Given the description of an element on the screen output the (x, y) to click on. 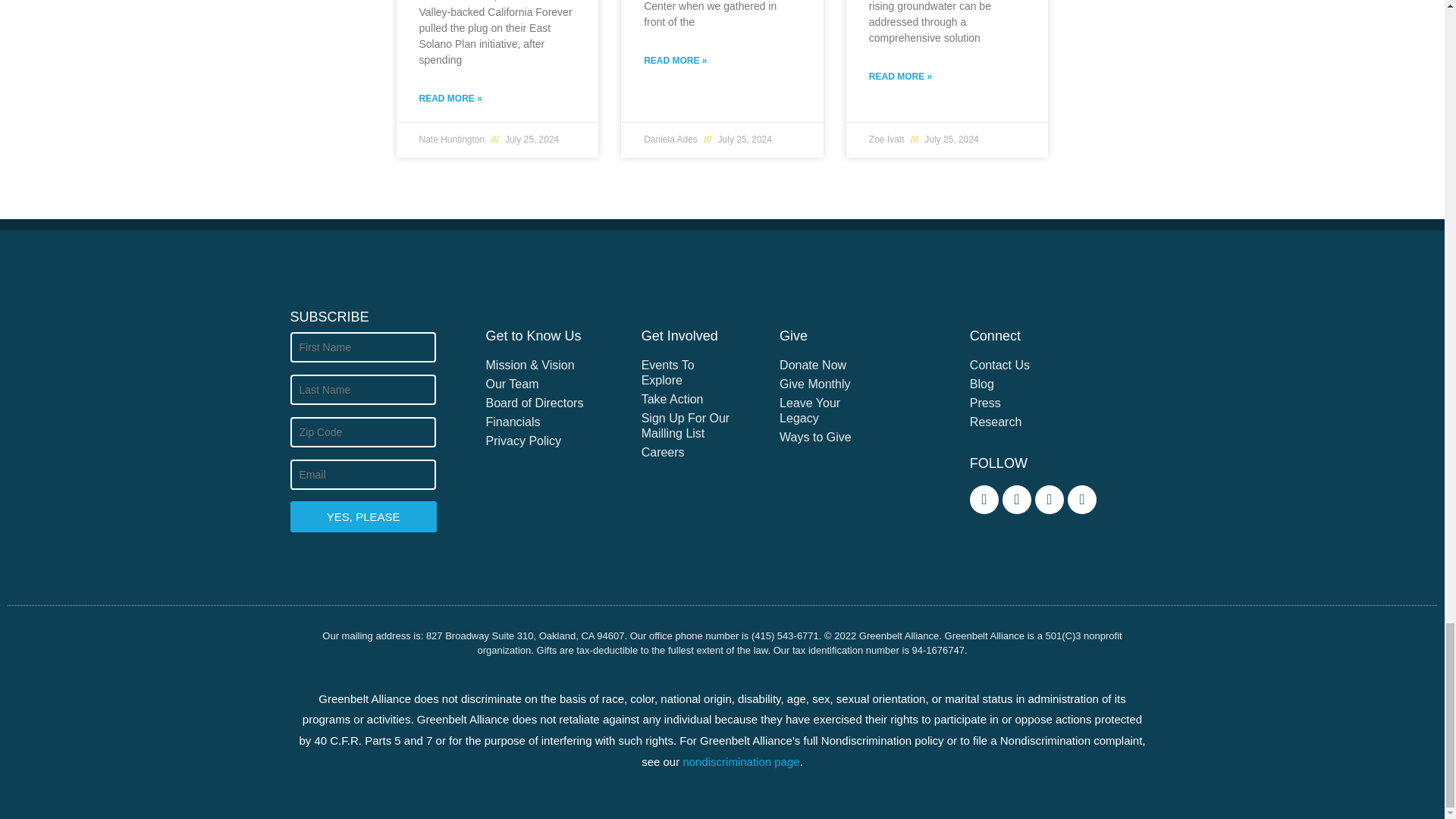
Yes, Please (362, 516)
